Given the description of an element on the screen output the (x, y) to click on. 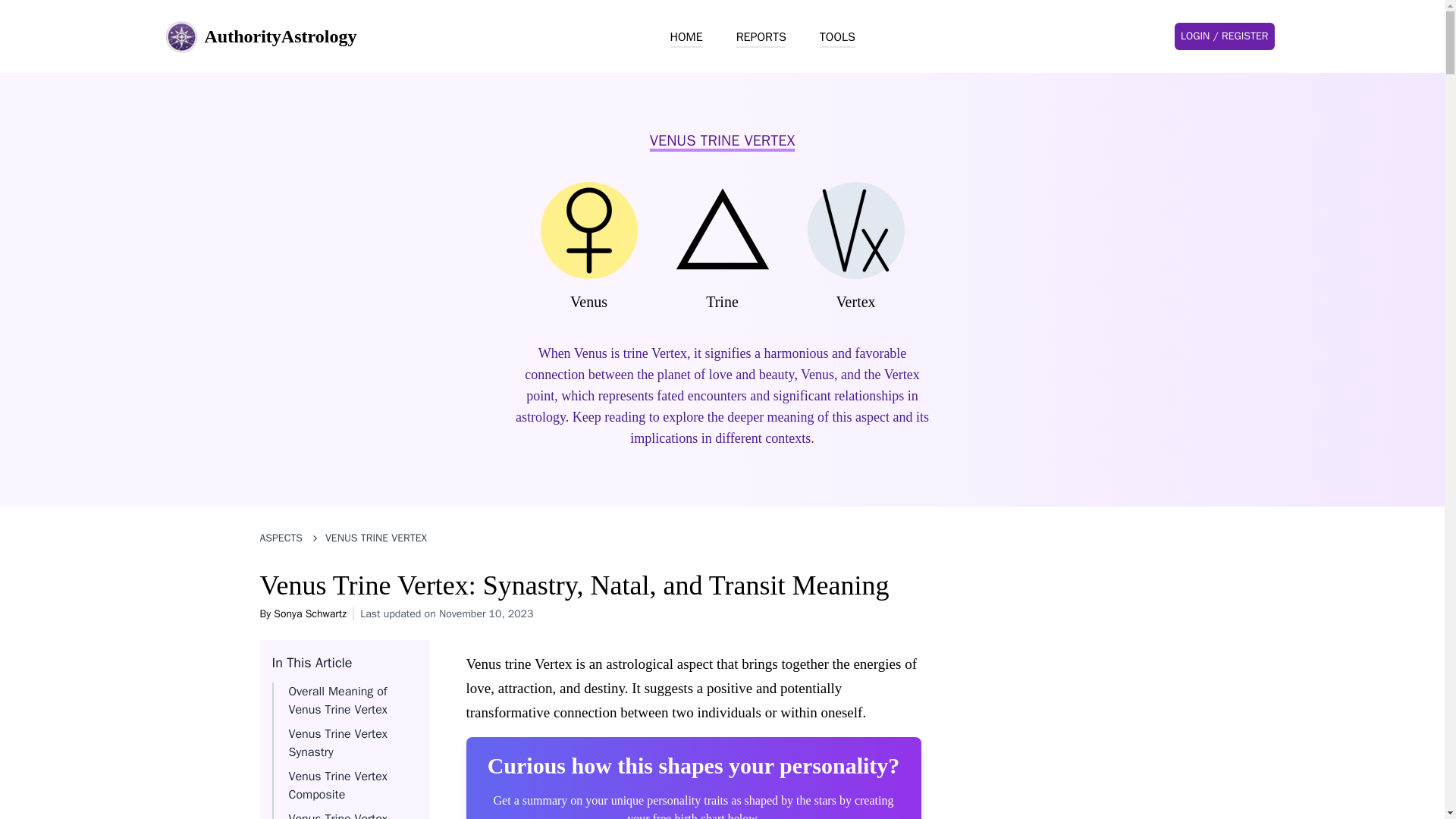
ASPECTS (280, 538)
Venus Trine Vertex Transit (337, 815)
AuthorityAstrology (259, 36)
REPORTS (761, 37)
TOOLS (837, 37)
Sonya Schwartz (309, 613)
VENUS TRINE VERTEX (375, 538)
HOME (686, 37)
Overall Meaning of Venus Trine Vertex (337, 700)
Venus Trine Vertex Synastry (337, 743)
